Given the description of an element on the screen output the (x, y) to click on. 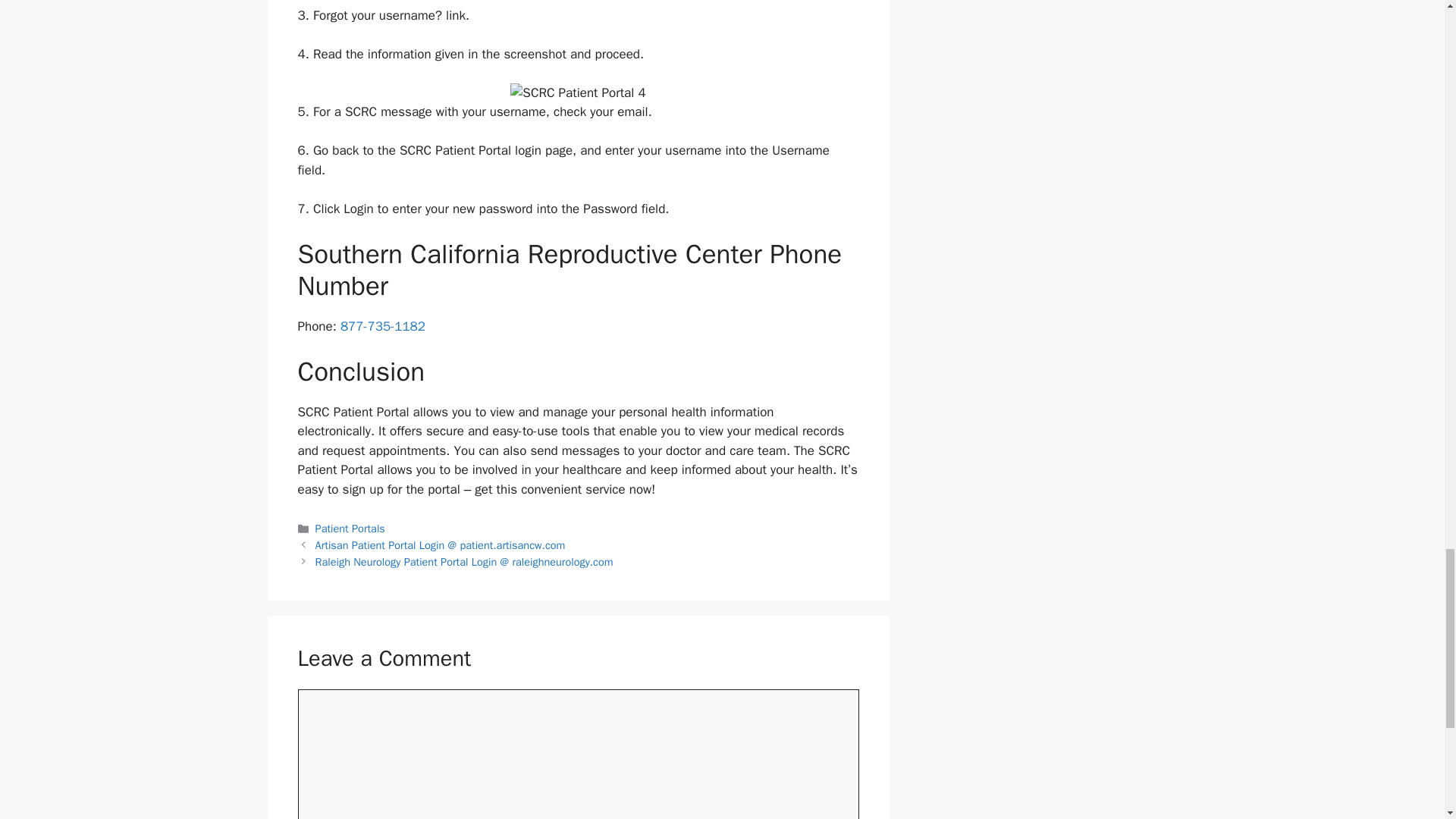
Patient Portals (350, 528)
877-735-1182 (382, 326)
Previous (440, 545)
Next (463, 561)
